Given the description of an element on the screen output the (x, y) to click on. 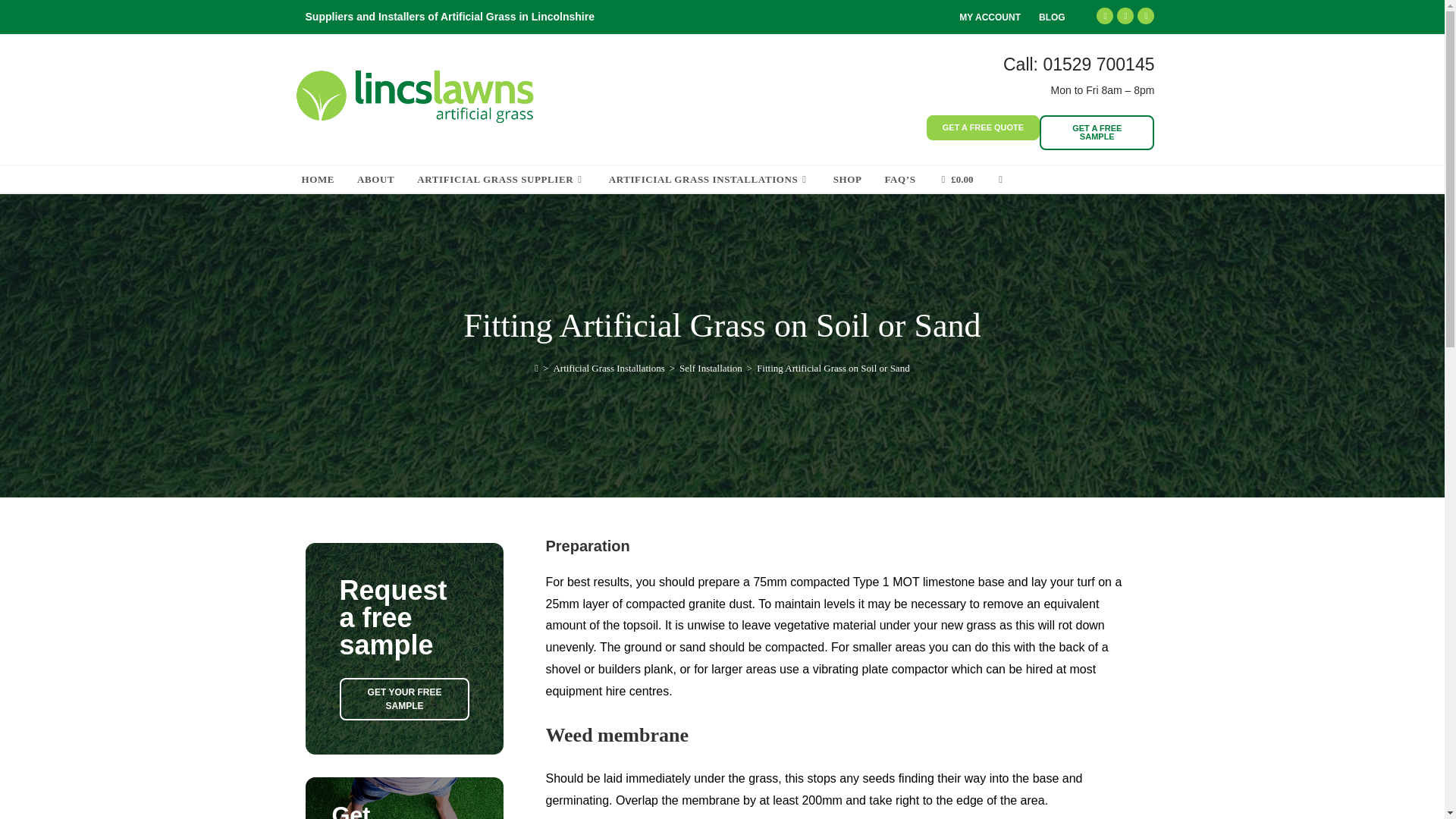
BLOG (1052, 17)
GET A FREE QUOTE (982, 127)
HOME (317, 179)
ABOUT (376, 179)
SHOP (847, 179)
ARTIFICIAL GRASS SUPPLIER (501, 179)
GET A FREE SAMPLE (1096, 132)
MY ACCOUNT (989, 17)
ARTIFICIAL GRASS INSTALLATIONS (709, 179)
